Given the description of an element on the screen output the (x, y) to click on. 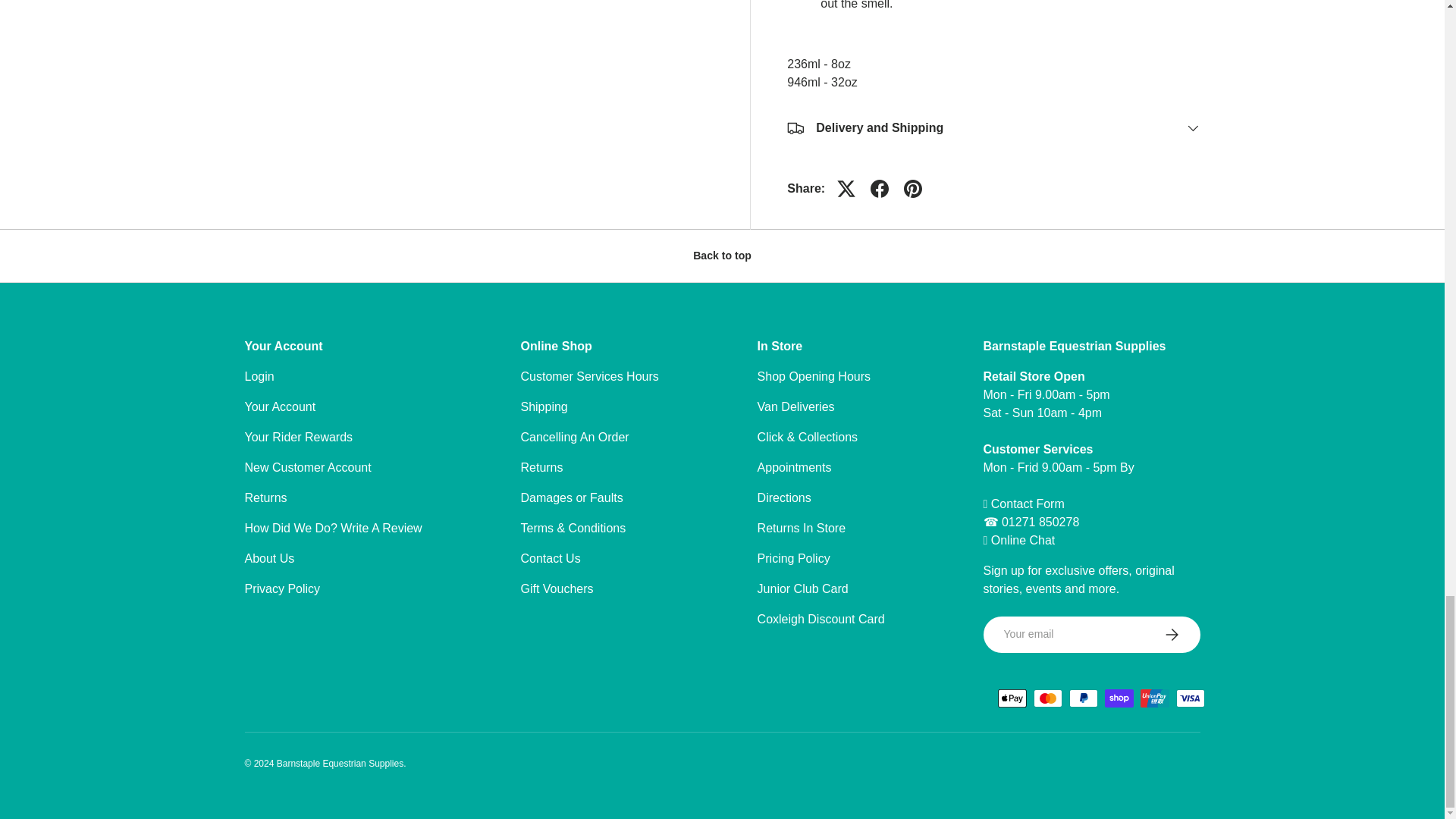
Share on Facebook (879, 188)
Pin on Pinterest (913, 188)
Tweet on X (846, 188)
